Given the description of an element on the screen output the (x, y) to click on. 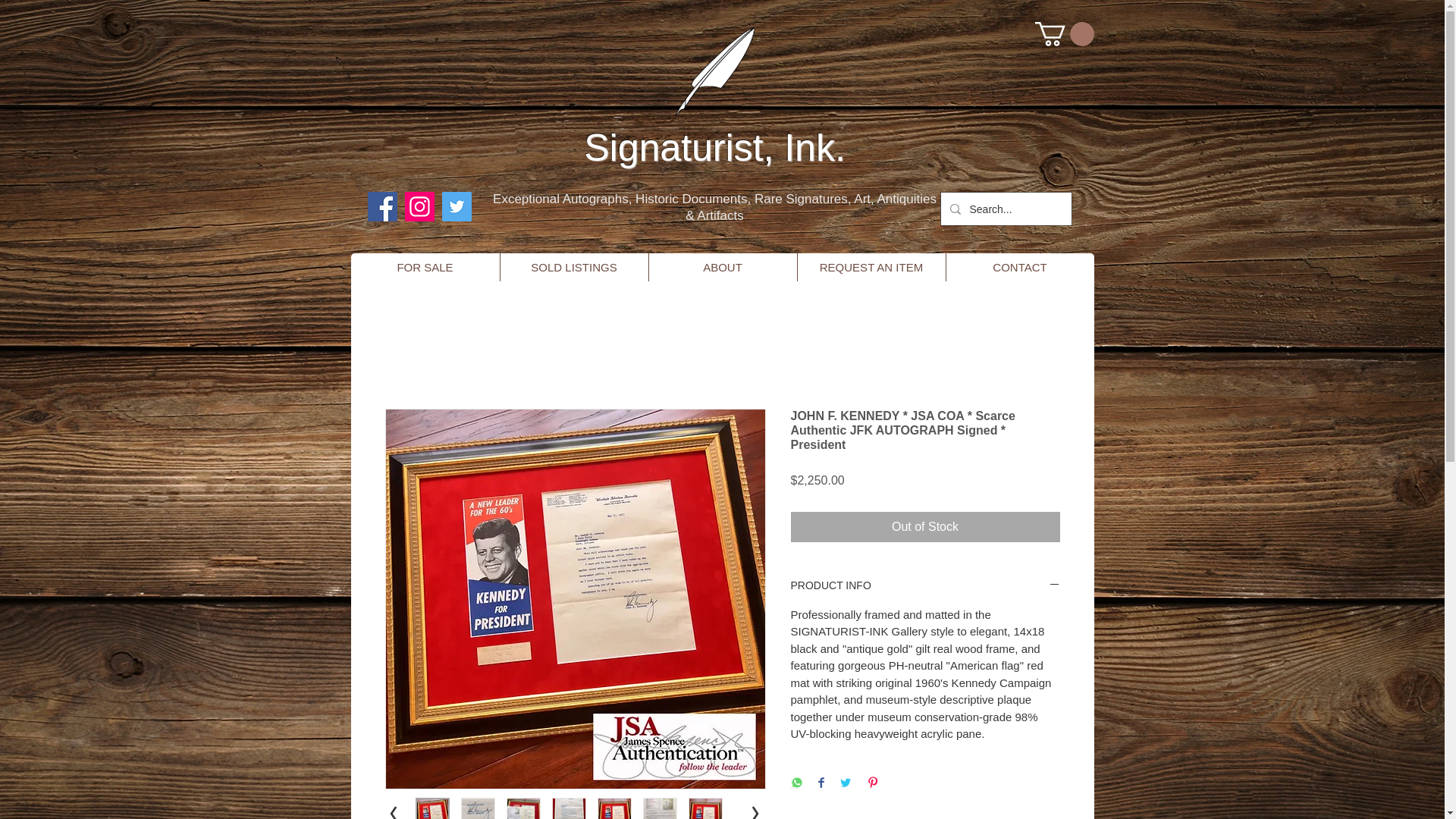
ABOUT (721, 267)
Signaturist, Ink. (714, 147)
SOLD LISTINGS (573, 267)
FOR SALE (424, 267)
CONTACT (1018, 267)
Out of Stock (924, 526)
PRODUCT INFO (924, 585)
REQUEST AN ITEM (870, 267)
